Given the description of an element on the screen output the (x, y) to click on. 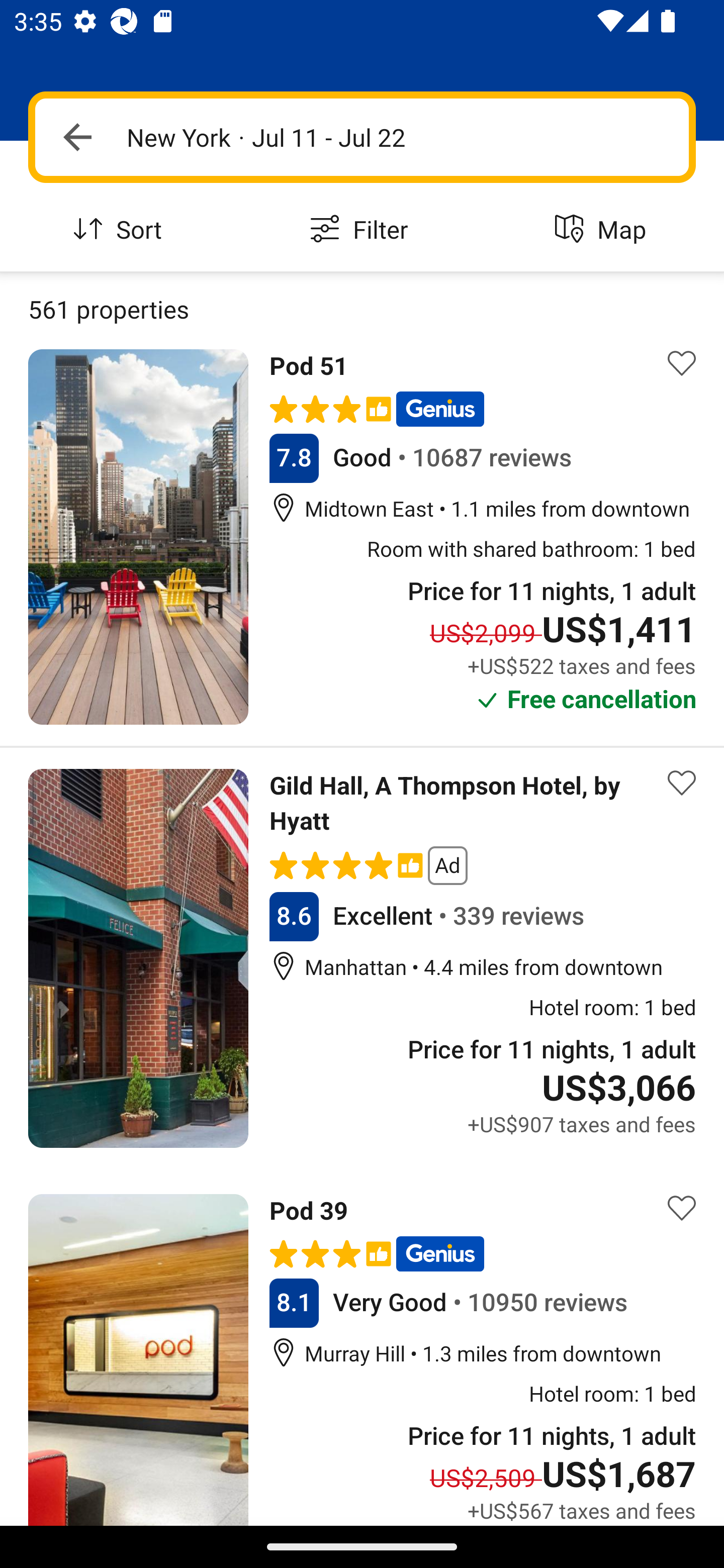
Navigate up New York · Jul 11 - Jul 22 (362, 136)
Navigate up (77, 136)
Sort (120, 230)
Filter (361, 230)
Map (603, 230)
Save property to list (681, 363)
Save property to list (681, 782)
Save property to list (681, 1207)
